Given the description of an element on the screen output the (x, y) to click on. 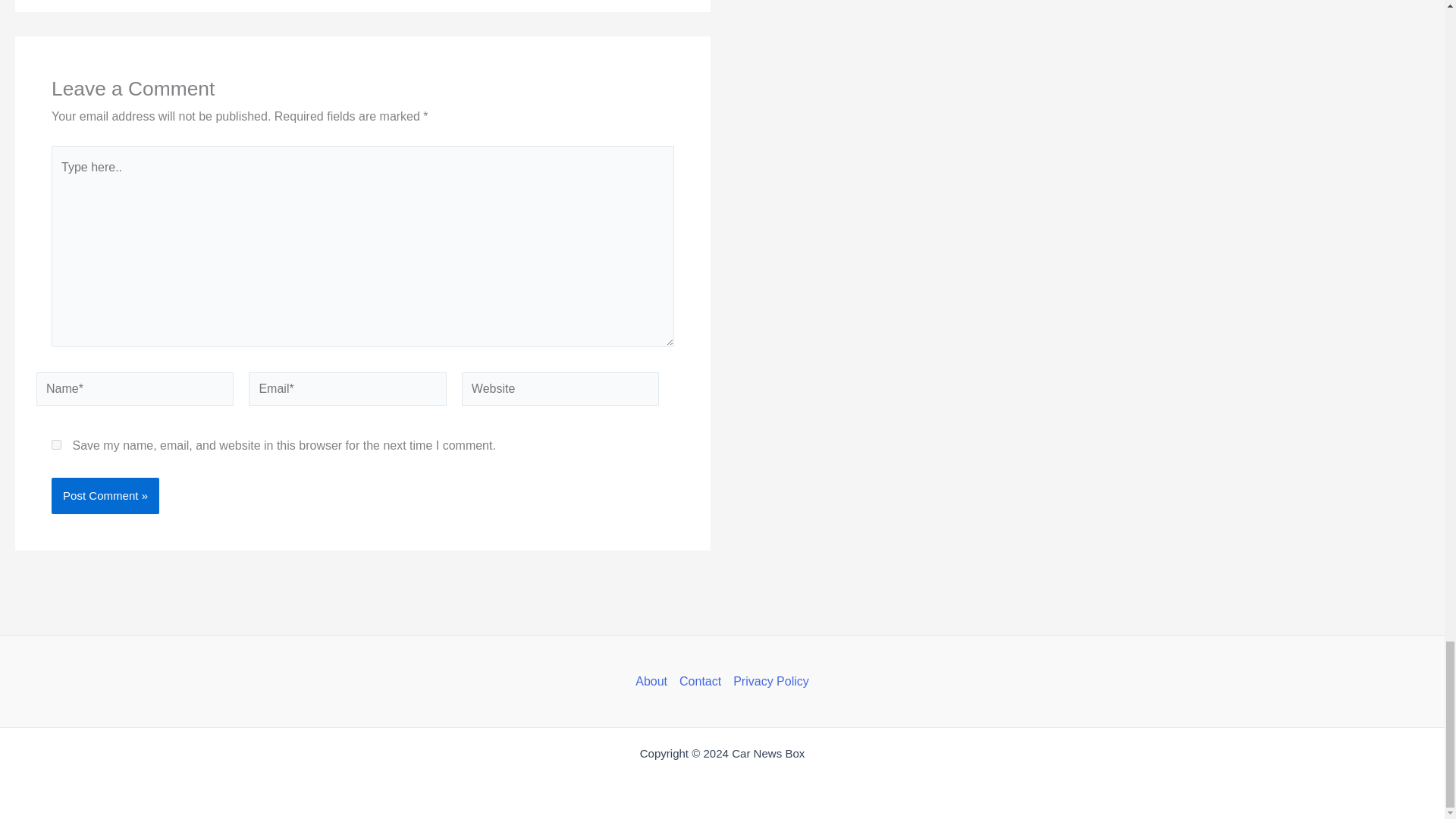
yes (55, 443)
